Given the description of an element on the screen output the (x, y) to click on. 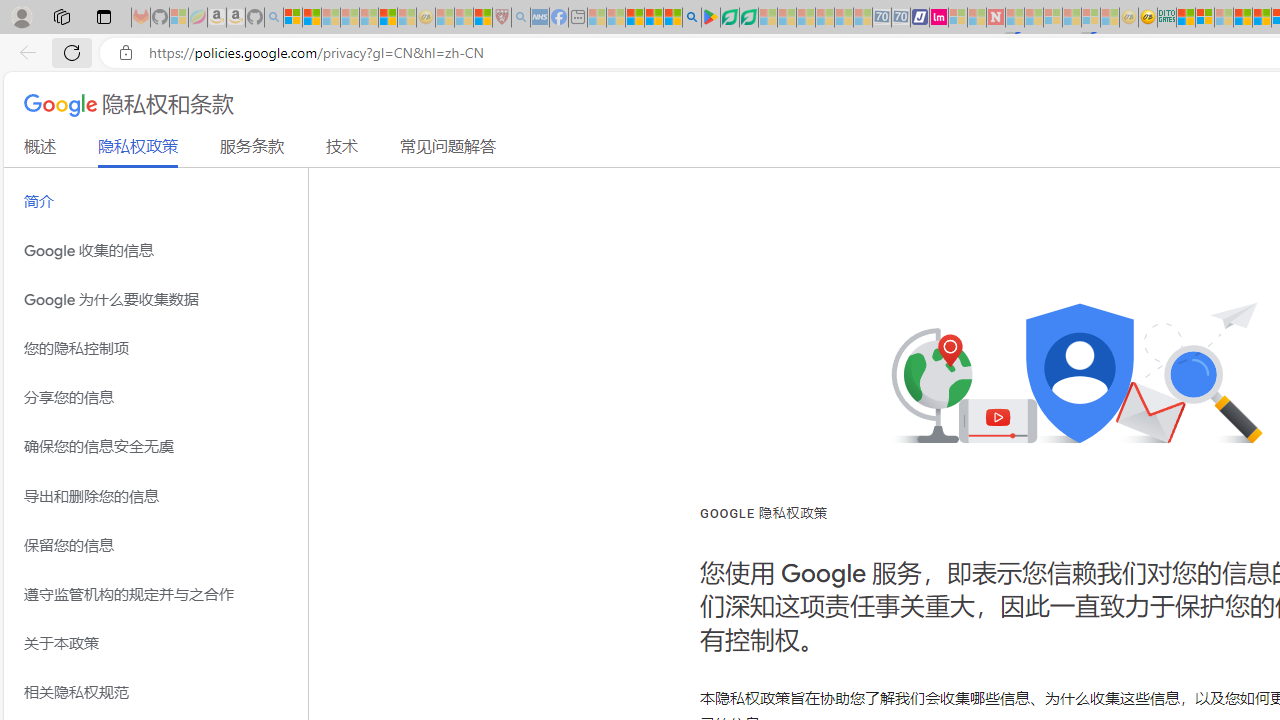
Pets - MSN (654, 17)
